Given the description of an element on the screen output the (x, y) to click on. 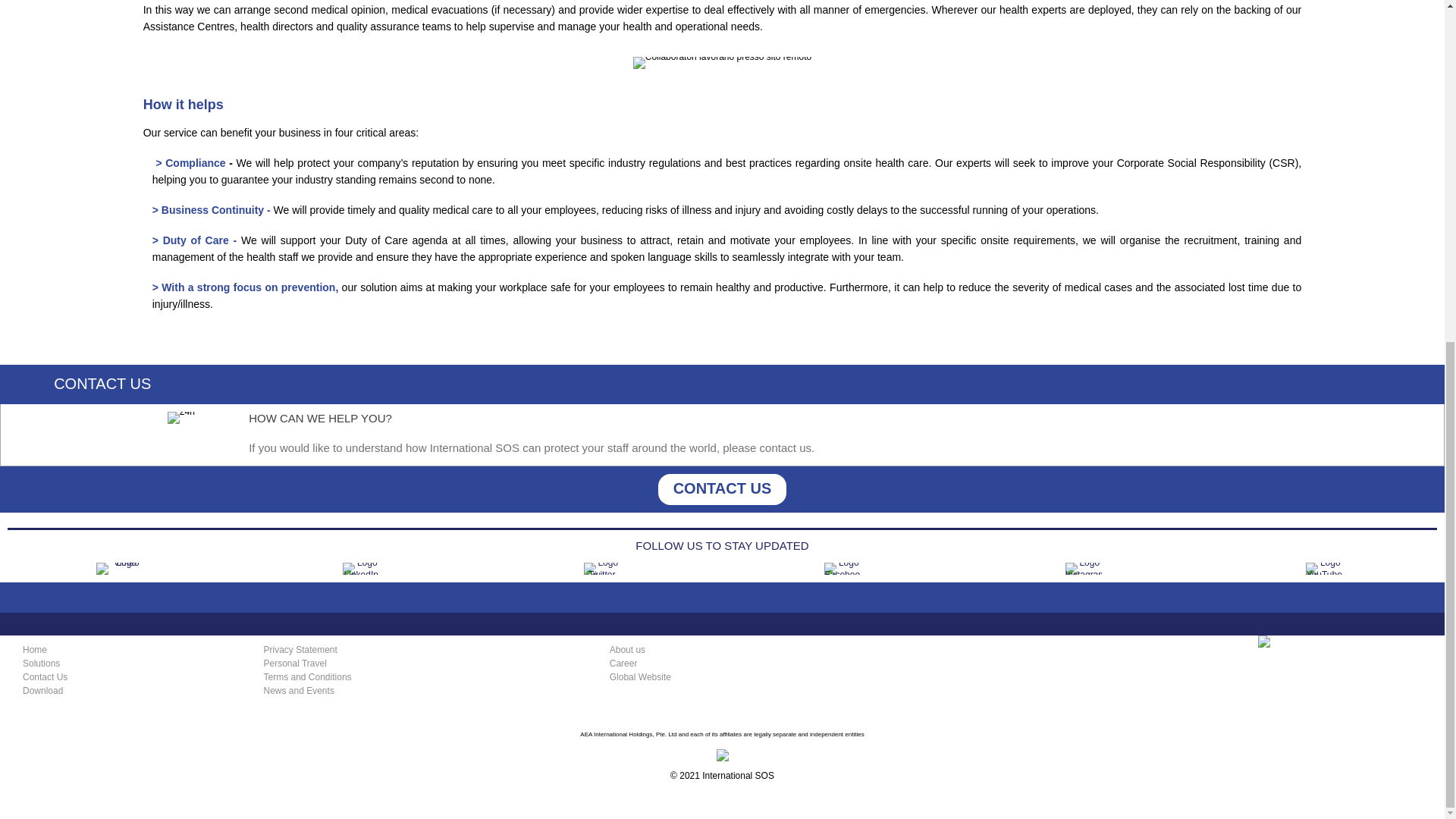
About us (627, 649)
Home (34, 649)
Personal Travel (294, 663)
Download (42, 690)
Solutions (41, 663)
CONTACT US (722, 489)
Global Website (640, 676)
Privacy Statement (300, 649)
News and Events (298, 690)
Contact Us (44, 676)
Terms and Conditions (307, 676)
Career (623, 663)
